Given the description of an element on the screen output the (x, y) to click on. 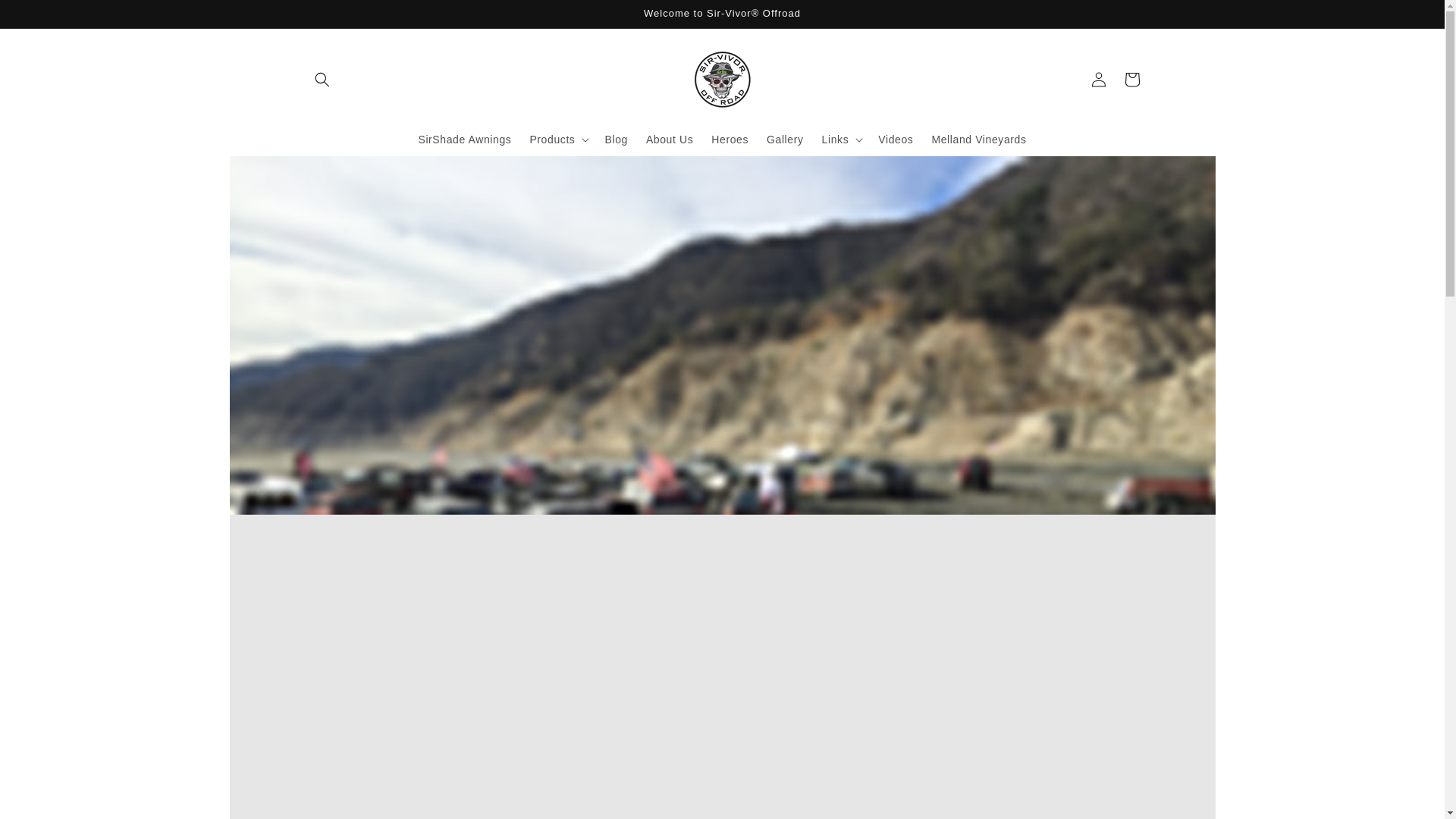
Blog (615, 139)
Skip to content (45, 17)
SirShade Awnings (464, 139)
